Given the description of an element on the screen output the (x, y) to click on. 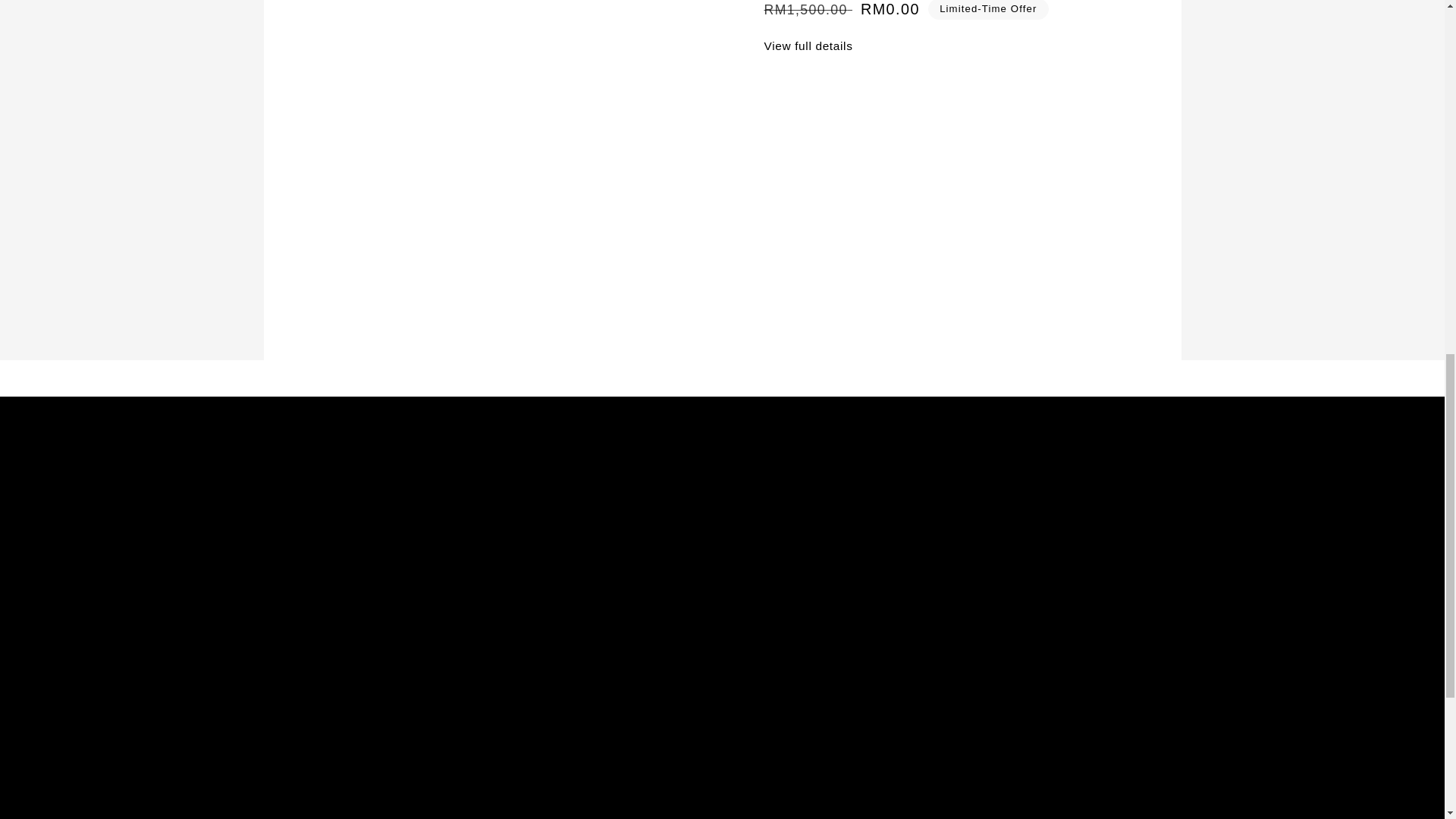
What's Impr Share in Google Ads? (828, 577)
View full details (943, 46)
Why Outsourcing Digital Marketing? (832, 605)
Copyright (524, 494)
Certified Google Partner (332, 548)
Certified Shopify Partner (333, 577)
What's ATOP in Google Ads? (812, 494)
Why Should Use Google Ads? (815, 520)
Search Marketing? SEM? SEO? (821, 548)
Privacy Policy (536, 520)
Contact (285, 520)
How to Pay Google Ads Withholding Tax? (832, 644)
Terms of Use (534, 548)
